Given the description of an element on the screen output the (x, y) to click on. 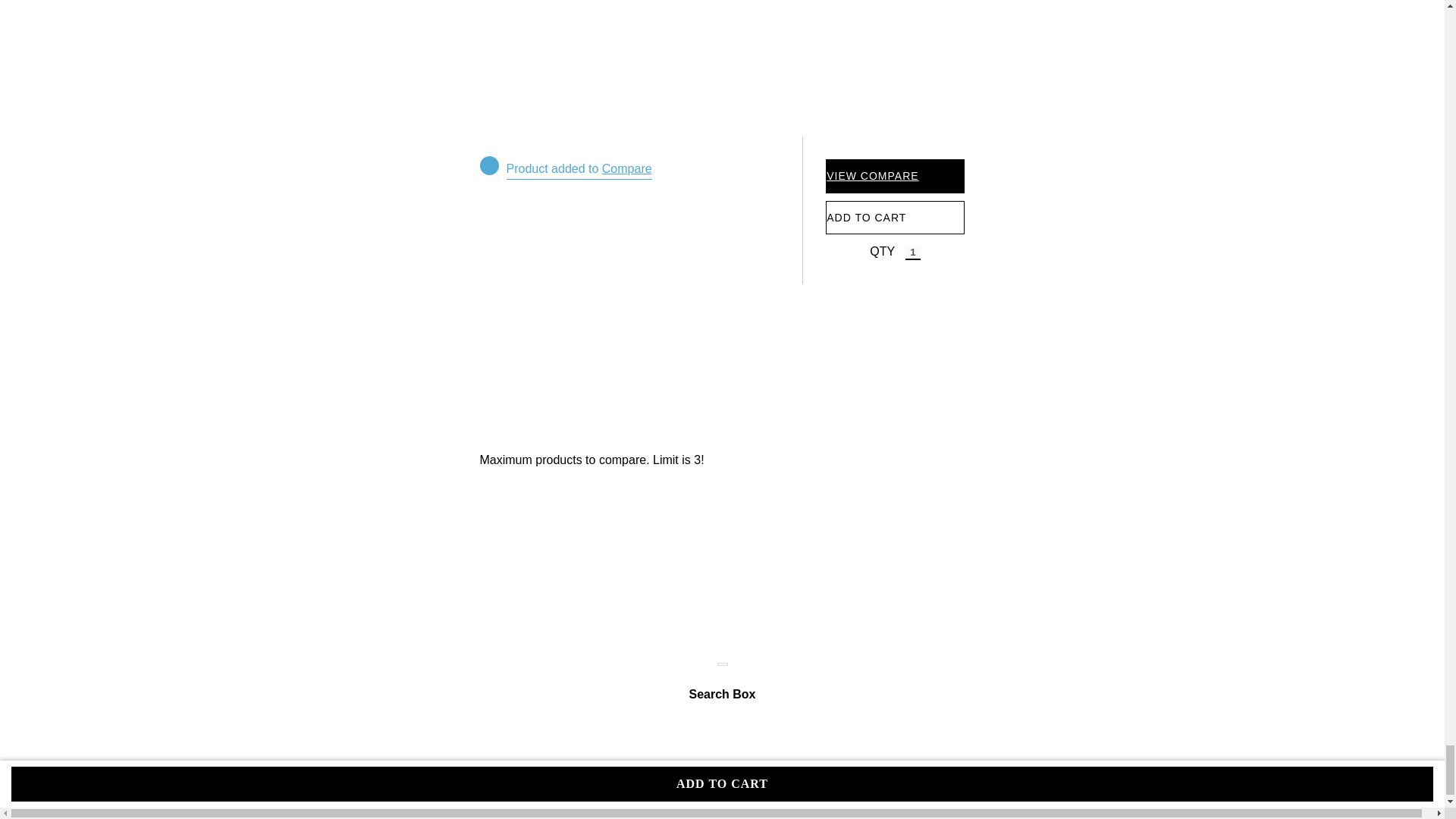
1 (912, 252)
